Given the description of an element on the screen output the (x, y) to click on. 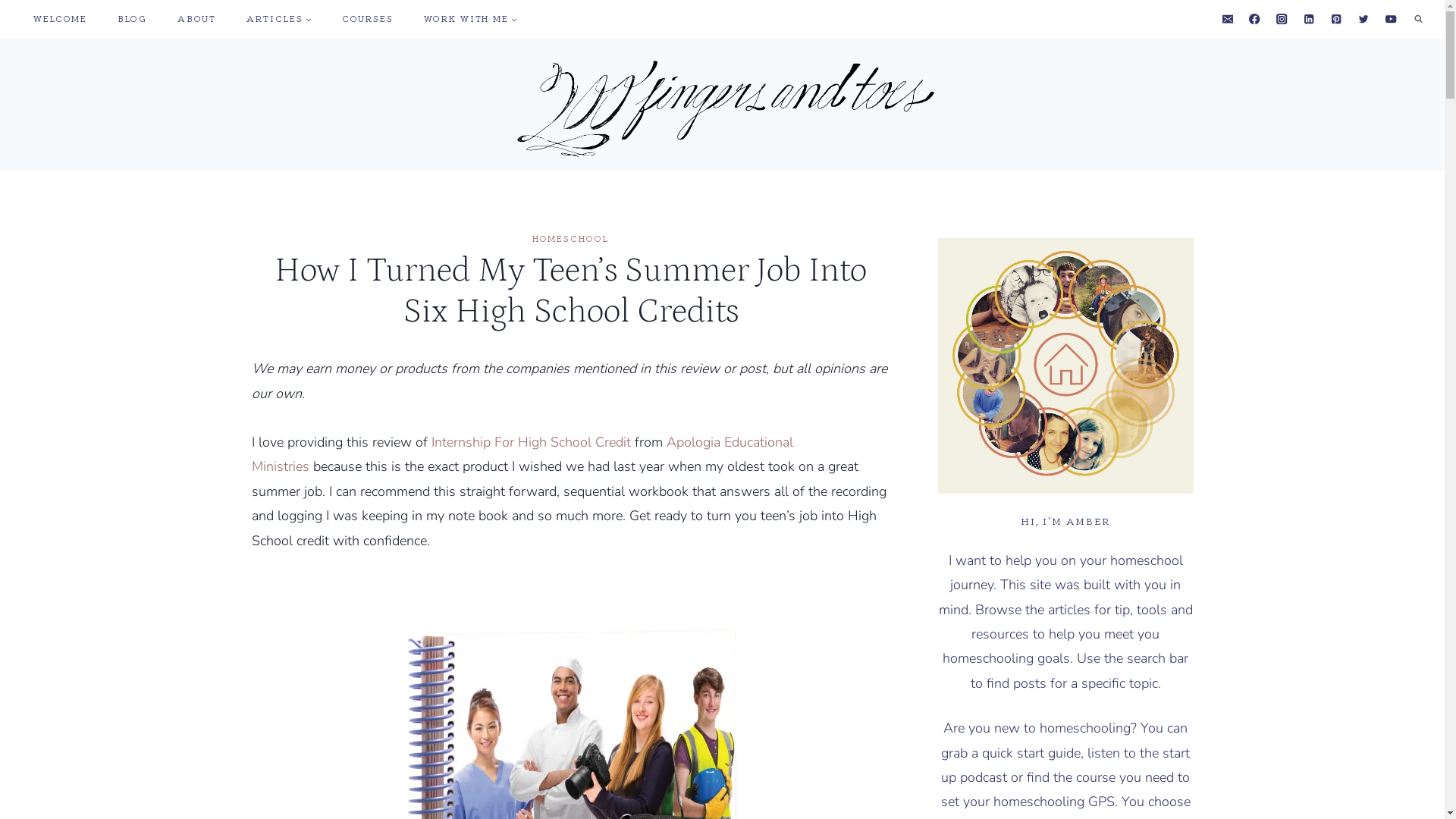
ABOUT Element type: text (196, 19)
COURSES Element type: text (367, 19)
BLOG Element type: text (132, 19)
WORK WITH ME Element type: text (470, 19)
WELCOME Element type: text (60, 19)
Internship For High School Credit Element type: text (530, 442)
ARTICLES Element type: text (278, 19)
Apologia Educational Ministries Element type: text (522, 454)
HOMESCHOOL Element type: text (570, 238)
